Given the description of an element on the screen output the (x, y) to click on. 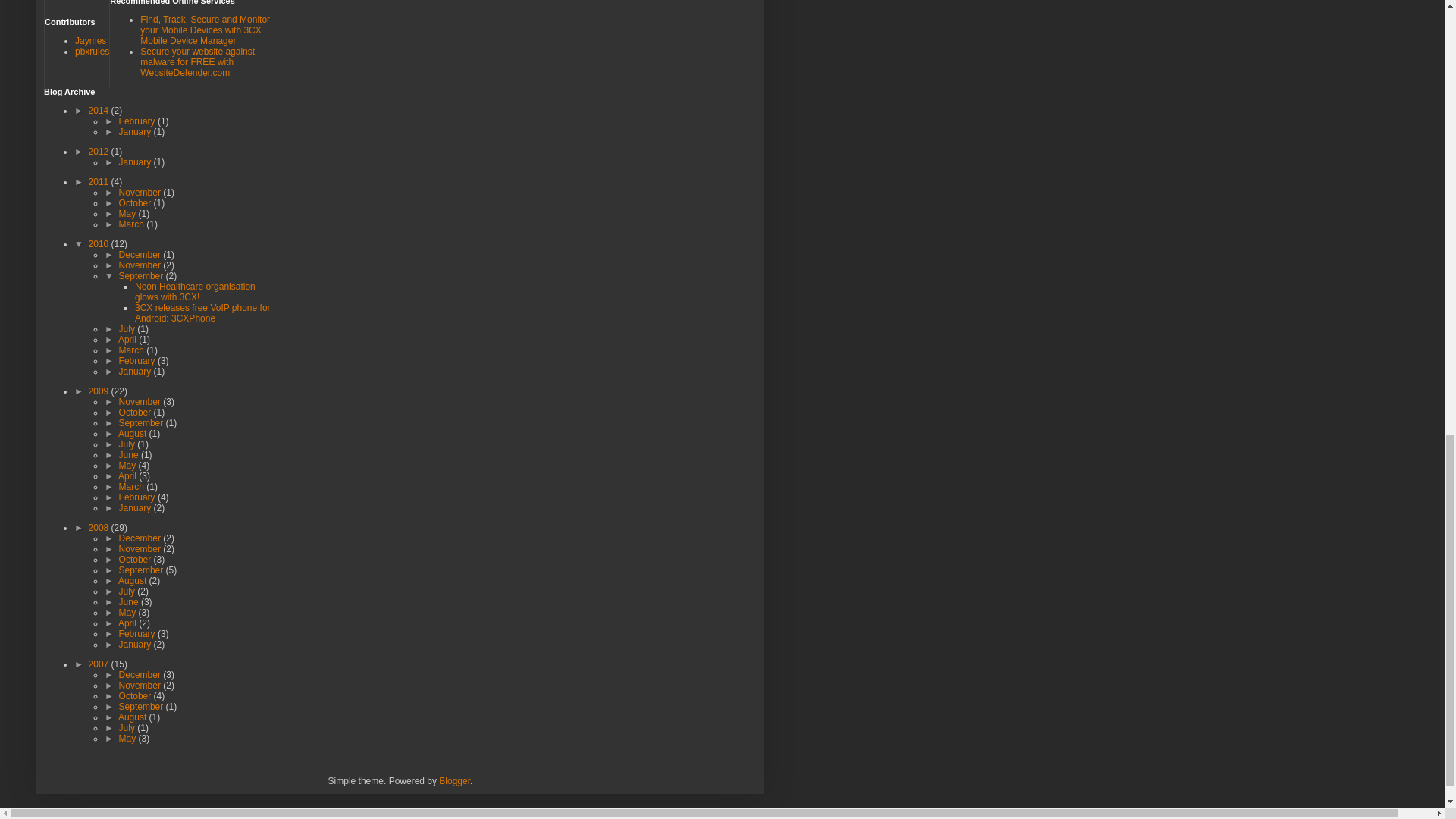
Jaymes (90, 40)
pbxrules (92, 50)
